Given the description of an element on the screen output the (x, y) to click on. 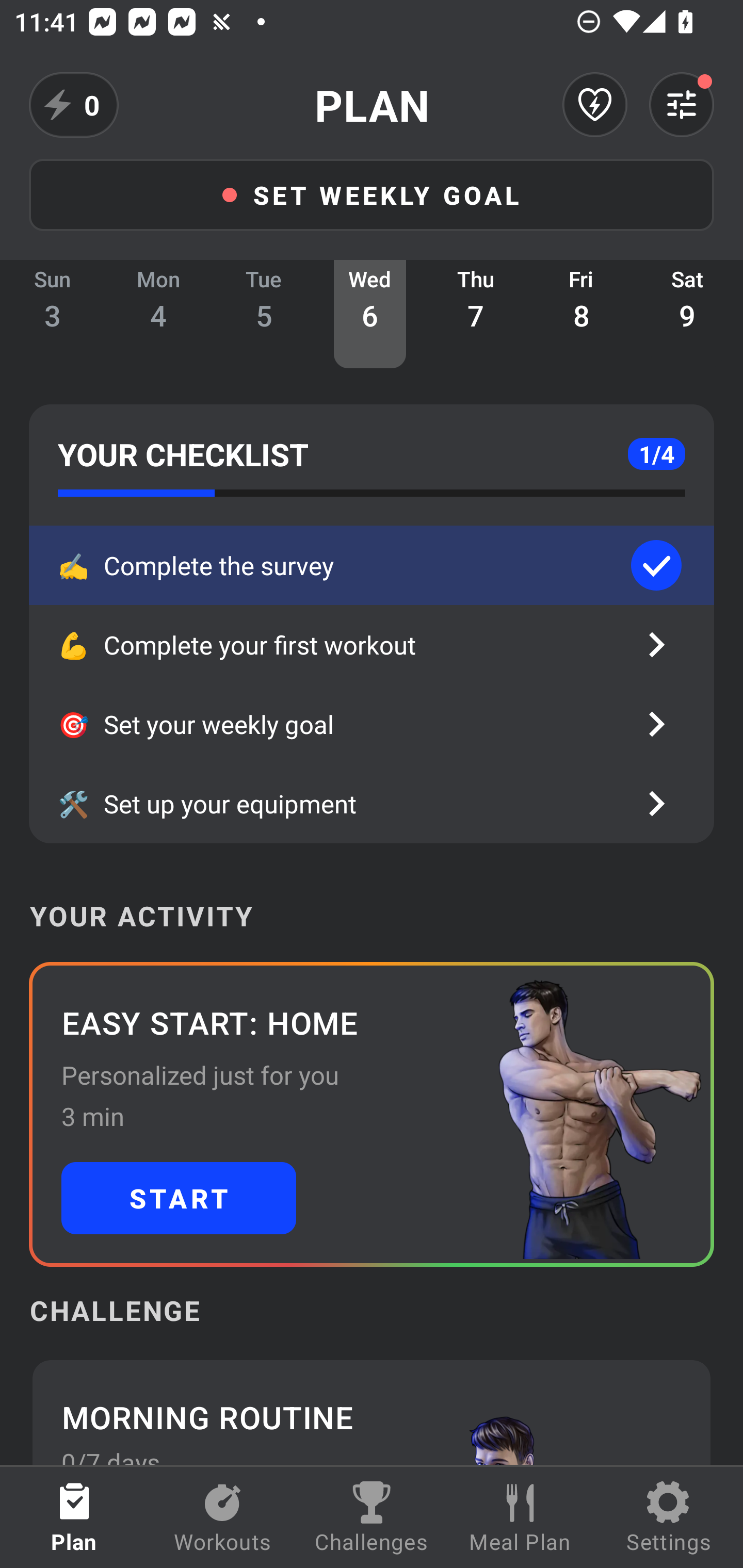
0 (73, 104)
SET WEEKLY GOAL (371, 194)
Sun 3 (52, 314)
Mon 4 (158, 314)
Tue 5 (264, 314)
Wed 6 (369, 314)
Thu 7 (475, 314)
Fri 8 (581, 314)
Sat 9 (687, 314)
💪 Complete your first workout (371, 645)
🎯 Set your weekly goal (371, 724)
🛠️ Set up your equipment (371, 803)
START (178, 1197)
 Workouts  (222, 1517)
 Challenges  (371, 1517)
 Meal Plan  (519, 1517)
 Settings  (668, 1517)
